Given the description of an element on the screen output the (x, y) to click on. 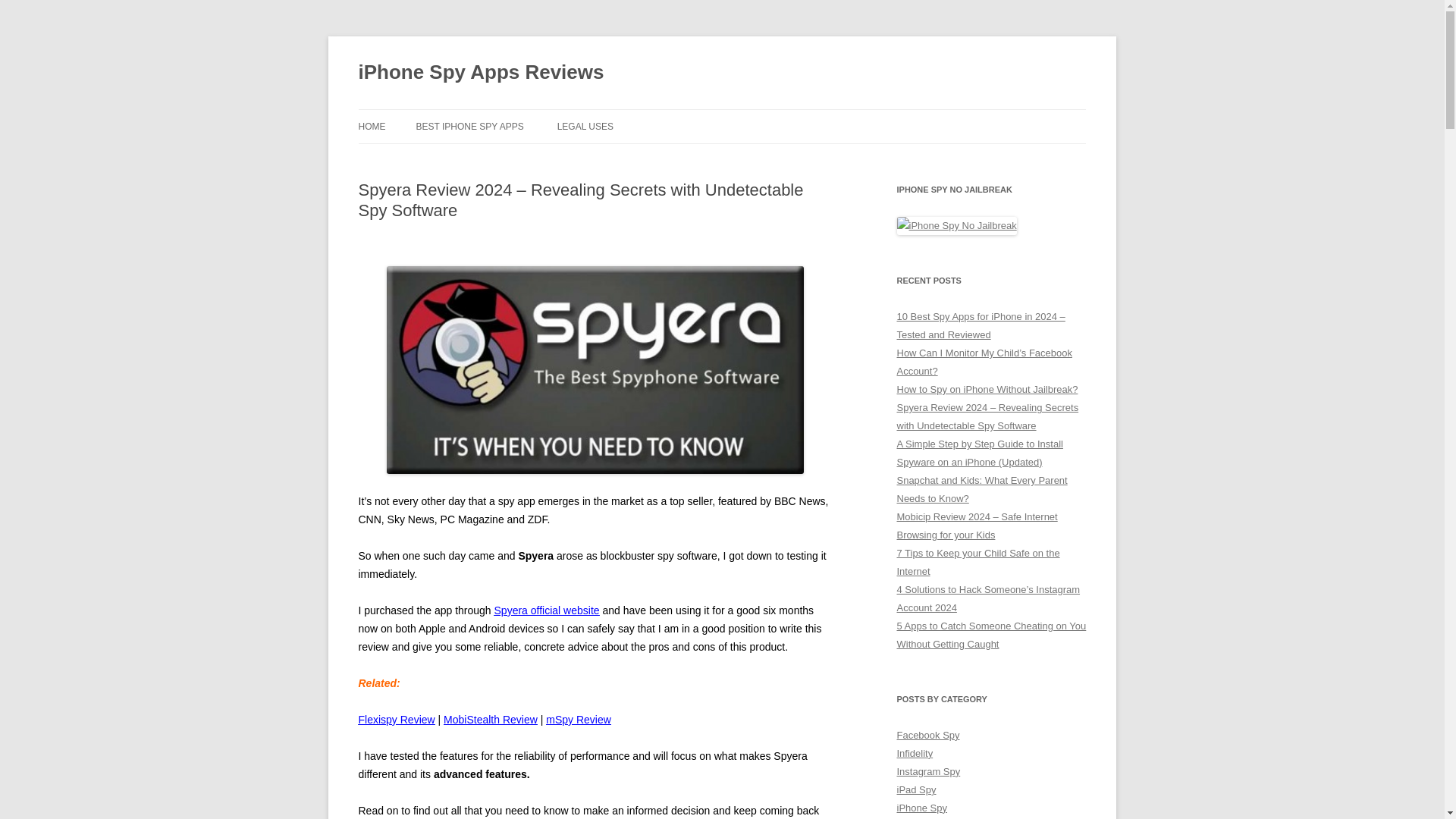
mspy review (578, 719)
Spyera official website (547, 610)
Snapchat and Kids: What Every Parent Needs to Know? (981, 489)
How to Spy on iPhone Without Jailbreak? (986, 389)
MobiStealth Review (490, 719)
Flexispy Review (395, 719)
mSpy Review (578, 719)
LEGAL USES (584, 126)
flexispy review (395, 719)
iPhone Spy Apps Reviews (481, 72)
BEST IPHONE SPY APPS (468, 126)
mobistealth review (490, 719)
Spyera Official Website (547, 610)
